Given the description of an element on the screen output the (x, y) to click on. 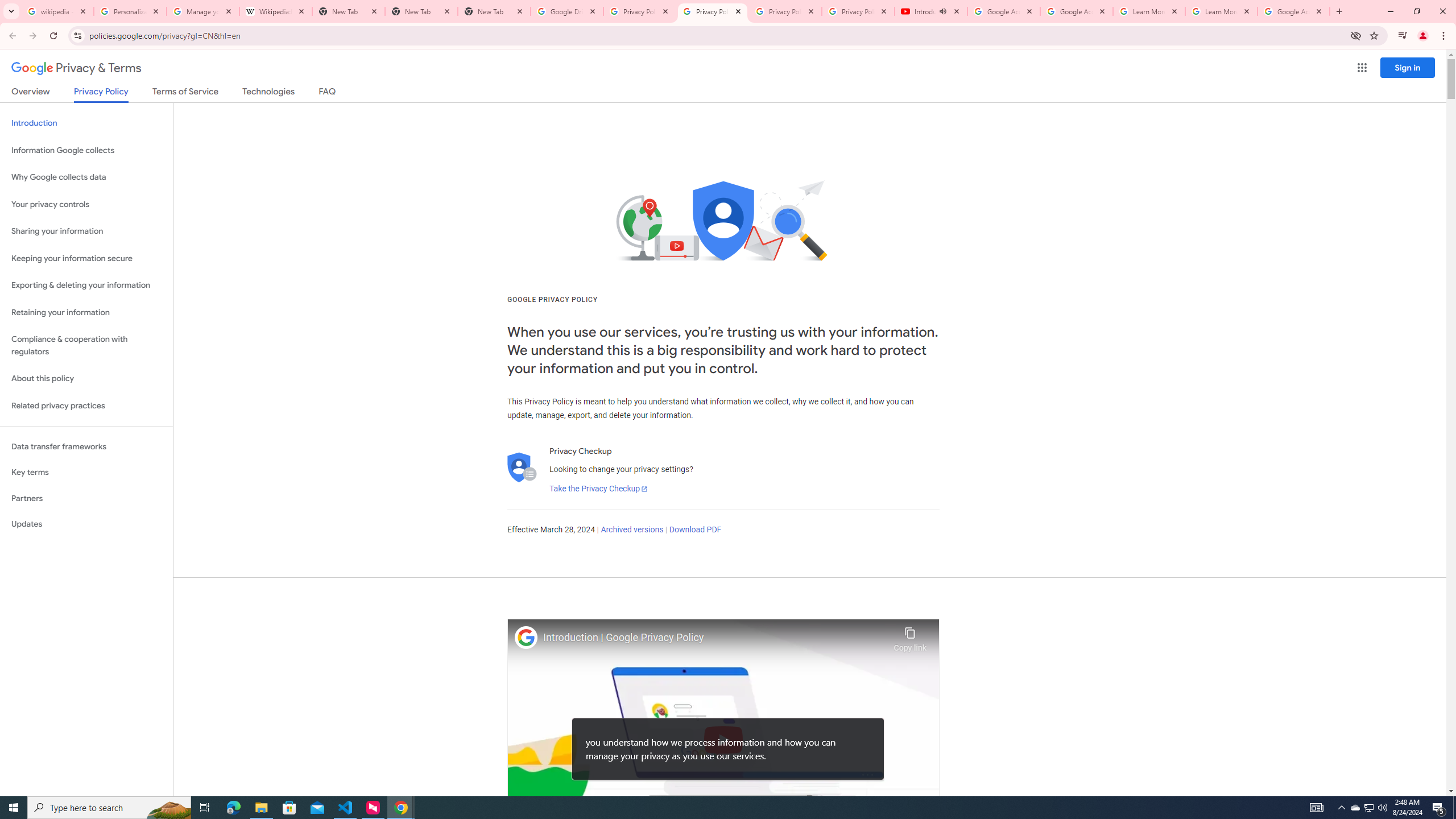
Google Account (1293, 11)
Google Drive: Sign-in (566, 11)
Google Account Help (1003, 11)
Personalization & Google Search results - Google Search Help (129, 11)
Take the Privacy Checkup (597, 488)
Information Google collects (86, 150)
Compliance & cooperation with regulators (86, 345)
Photo image of Google (526, 636)
Exporting & deleting your information (86, 284)
Sharing your information (86, 230)
